Given the description of an element on the screen output the (x, y) to click on. 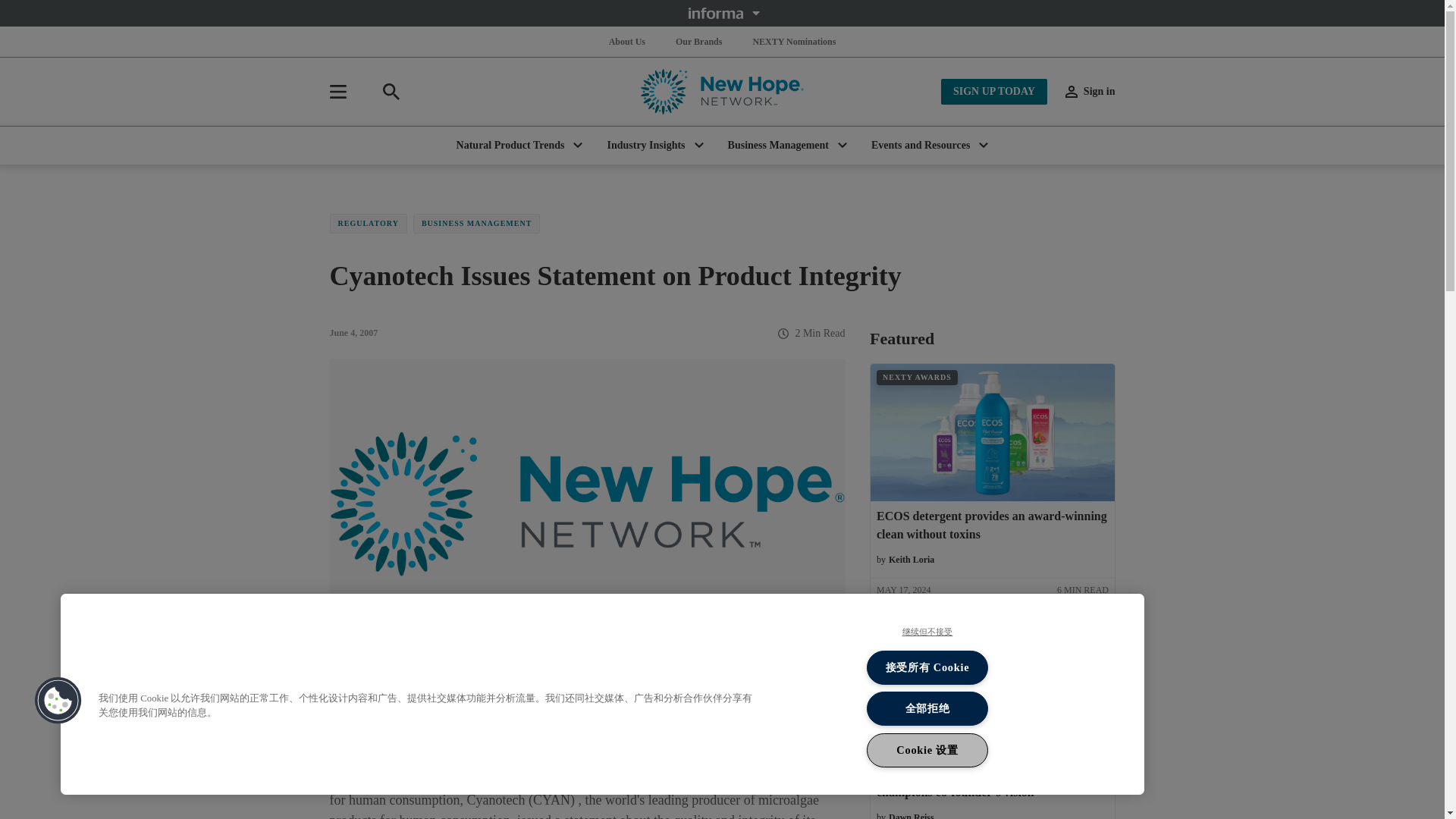
SIGN UP TODAY (993, 91)
Sign in (1090, 91)
Cookies Button (57, 700)
Our Brands (698, 41)
NEXTY Nominations (793, 41)
About Us (626, 41)
